Given the description of an element on the screen output the (x, y) to click on. 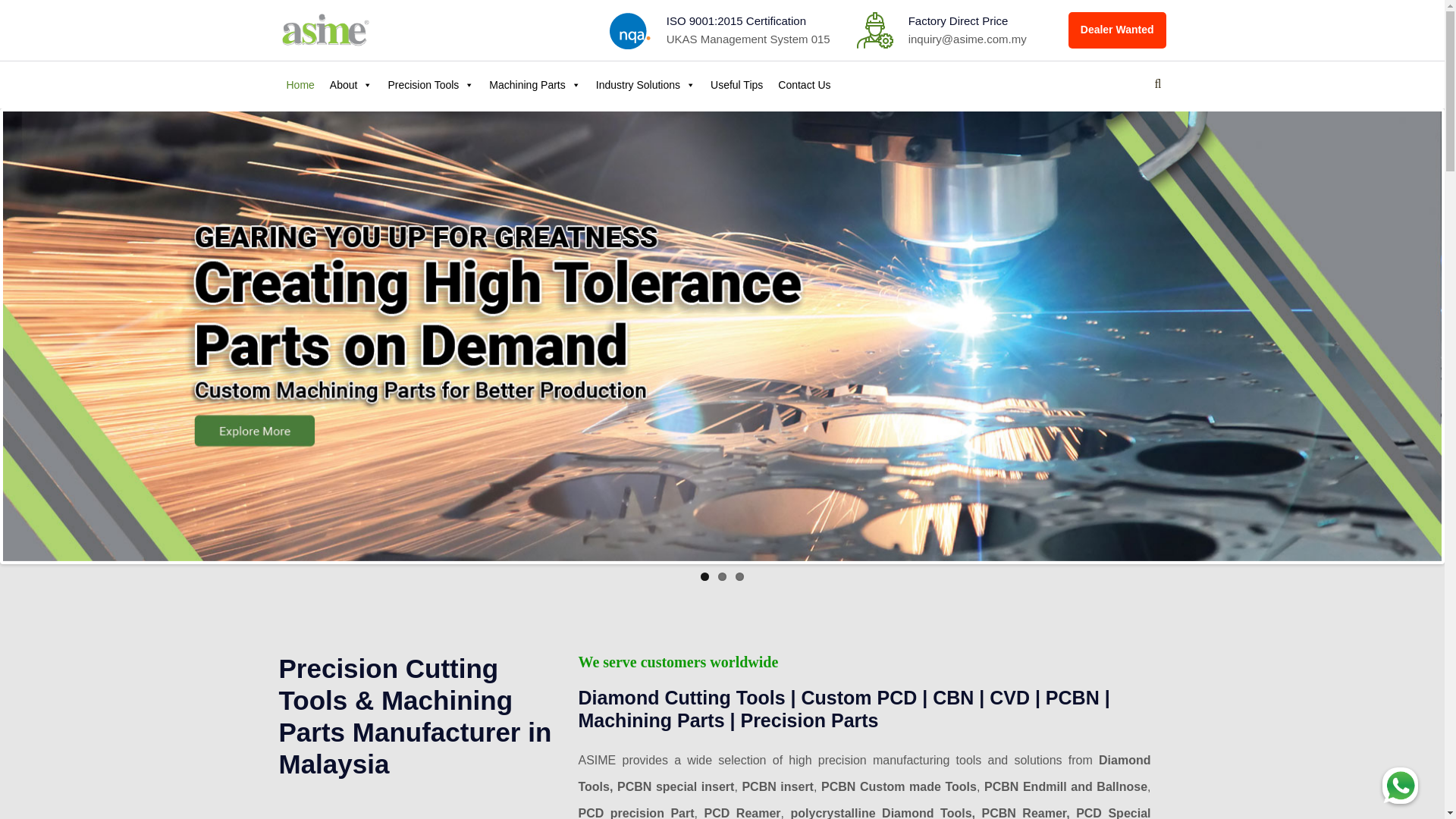
Home (300, 84)
Useful Tips (736, 84)
Precision Tools (430, 84)
Industry Solutions (645, 84)
Dealer Wanted (1117, 30)
Contact Us (804, 84)
Machining Parts (534, 84)
About (350, 84)
